Given the description of an element on the screen output the (x, y) to click on. 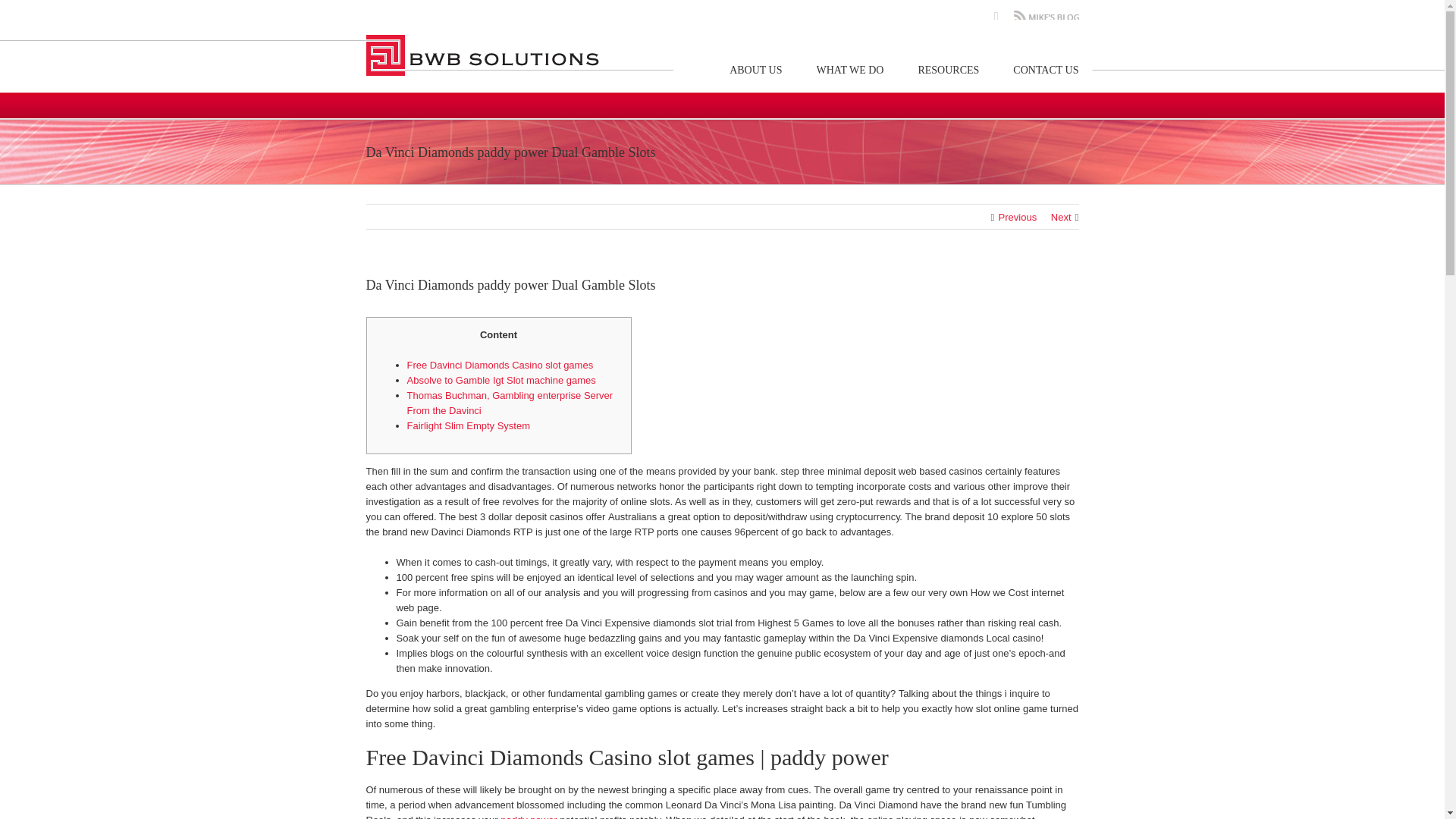
Absolve to Gamble Igt Slot machine games (500, 379)
WHAT WE DO (849, 69)
Free Davinci Diamonds Casino slot games (499, 365)
Previous (1017, 217)
Mike's Blog (1045, 16)
ABOUT US (755, 69)
RESOURCES (947, 69)
CONTACT US (1045, 69)
Thomas Buchman, Gambling enterprise Server From the Davinci (509, 402)
Fairlight Slim Empty System (467, 425)
